Given the description of an element on the screen output the (x, y) to click on. 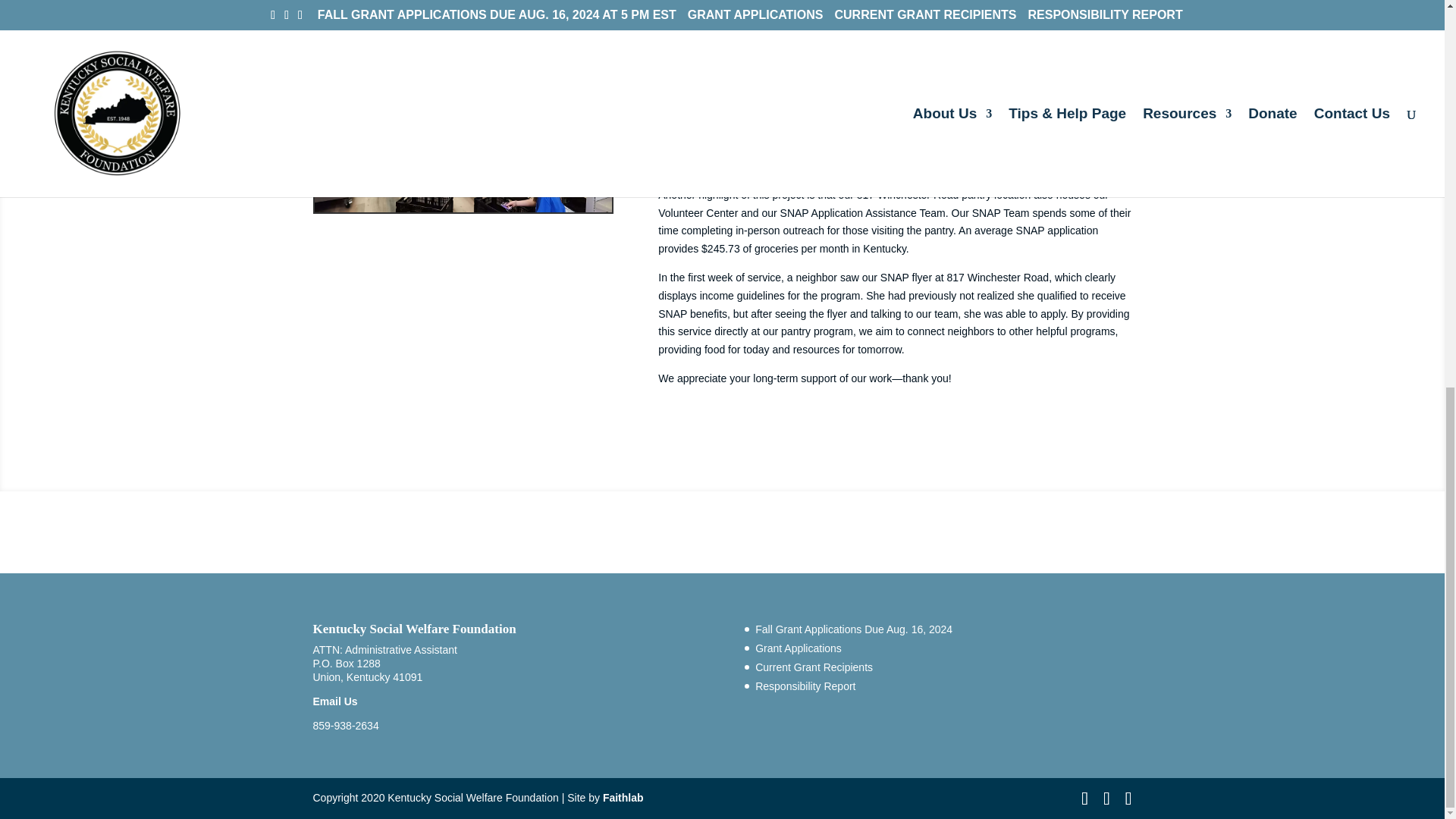
Grant Applications (798, 648)
Fall Grant Applications Due Aug. 16, 2024 (853, 629)
Email Us (334, 701)
Pantry-Stocking-Side-1 (462, 106)
